Given the description of an element on the screen output the (x, y) to click on. 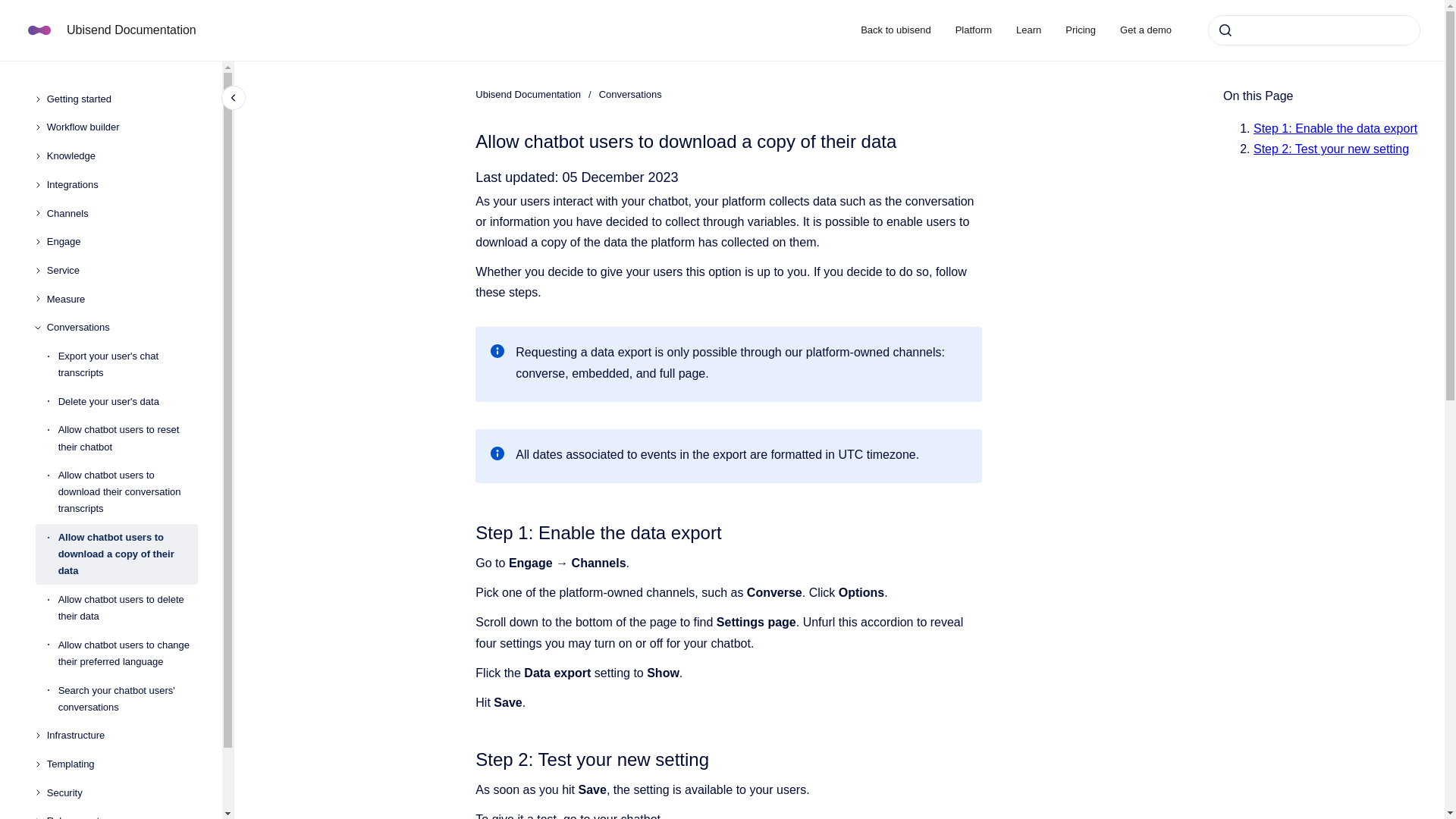
Allow chatbot users to delete their data (128, 607)
Allow chatbot users to change their preferred language (128, 653)
Engage (122, 241)
Workflow builder (122, 127)
Conversations (122, 327)
Service (122, 270)
Channels (122, 213)
Go to homepage (39, 30)
Allow chatbot users to download a copy of their data (128, 554)
Back to ubisend (895, 29)
